Given the description of an element on the screen output the (x, y) to click on. 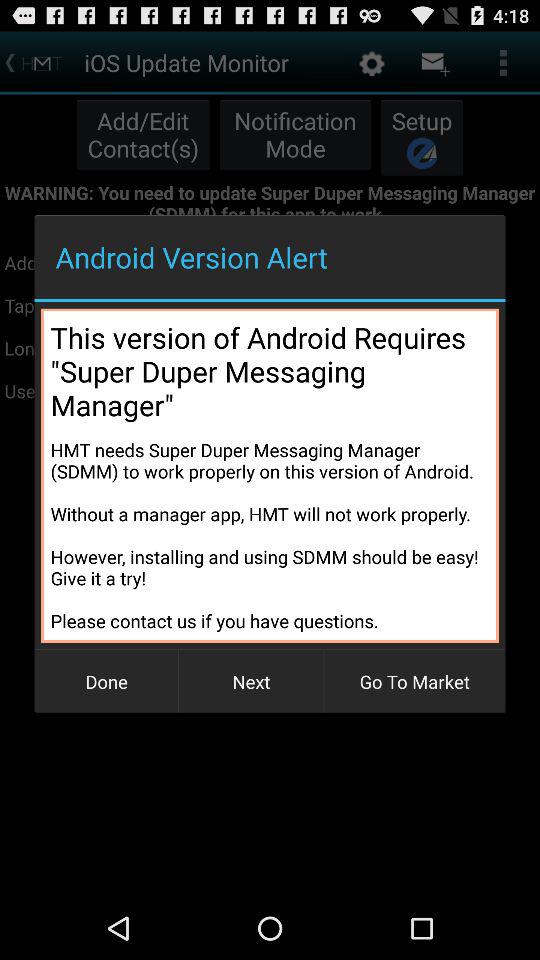
scroll until done (106, 681)
